Given the description of an element on the screen output the (x, y) to click on. 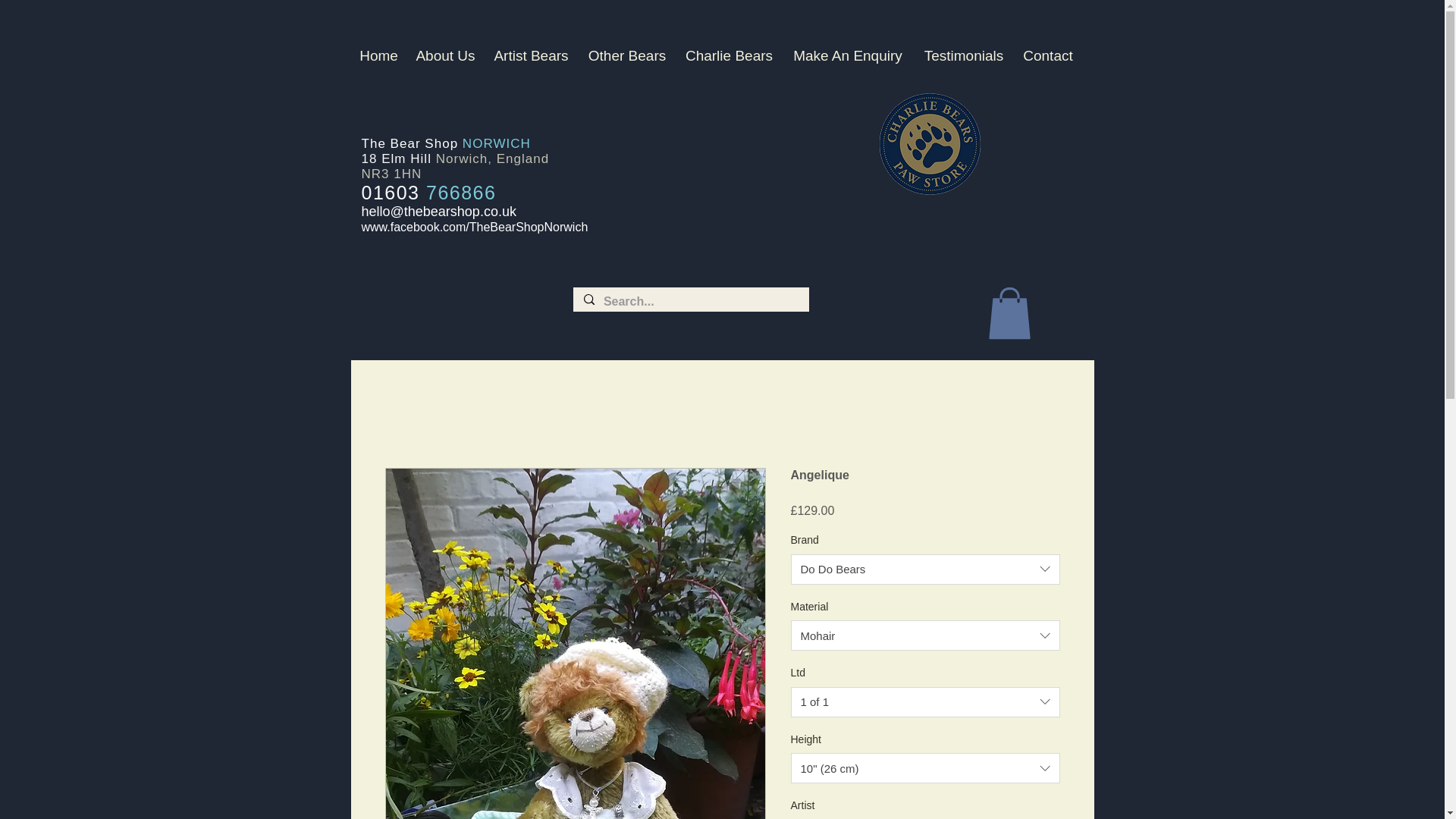
Contact (1047, 55)
NORWICH (497, 143)
Other Bears (626, 55)
Testimonials (962, 55)
The Bear Shop  (411, 143)
About Us (444, 55)
Artist Bears (530, 55)
Home (378, 55)
Make An Enquiry (848, 55)
